Given the description of an element on the screen output the (x, y) to click on. 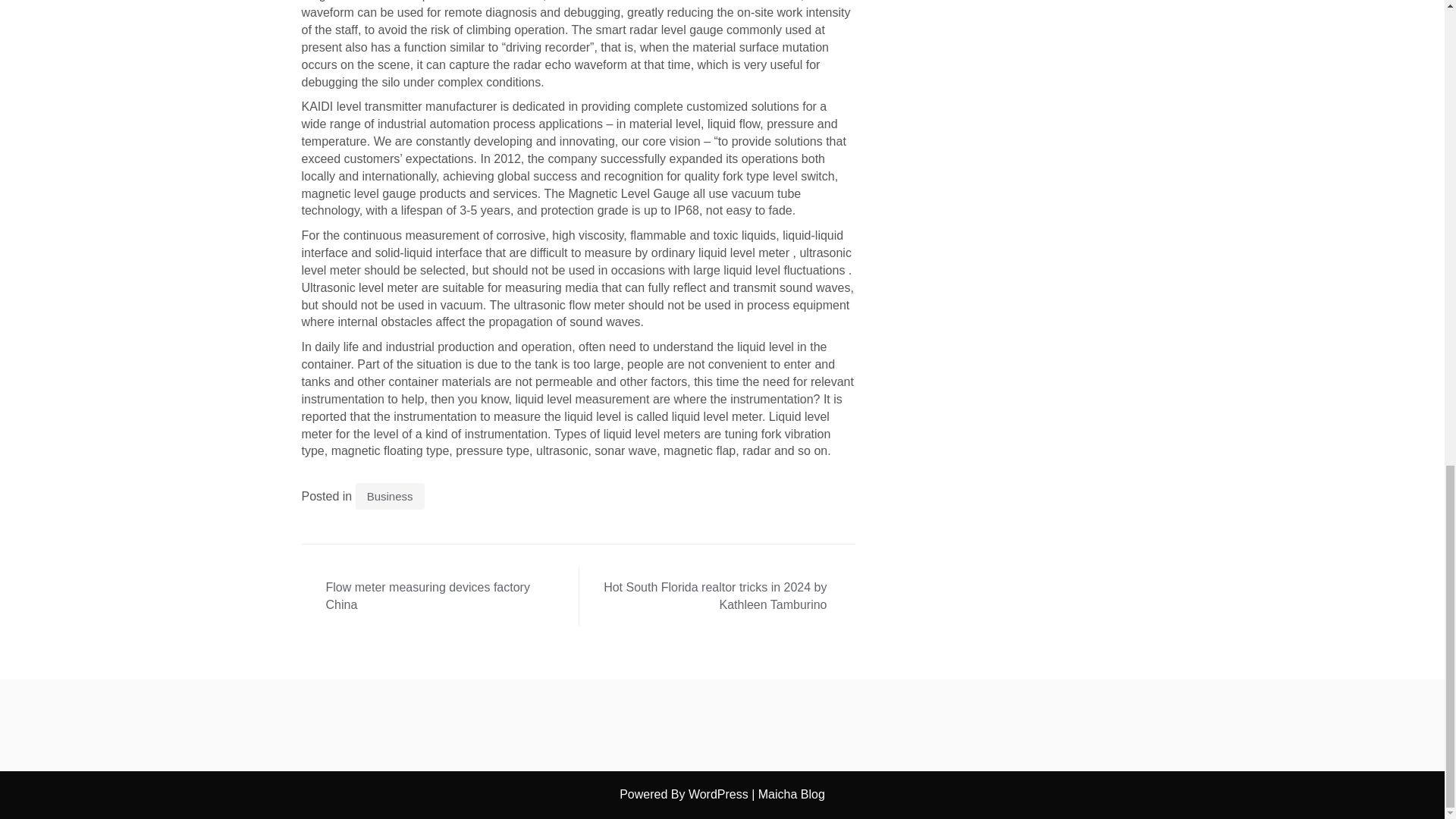
Business (390, 496)
Flow meter measuring devices factory China (438, 596)
